Given the description of an element on the screen output the (x, y) to click on. 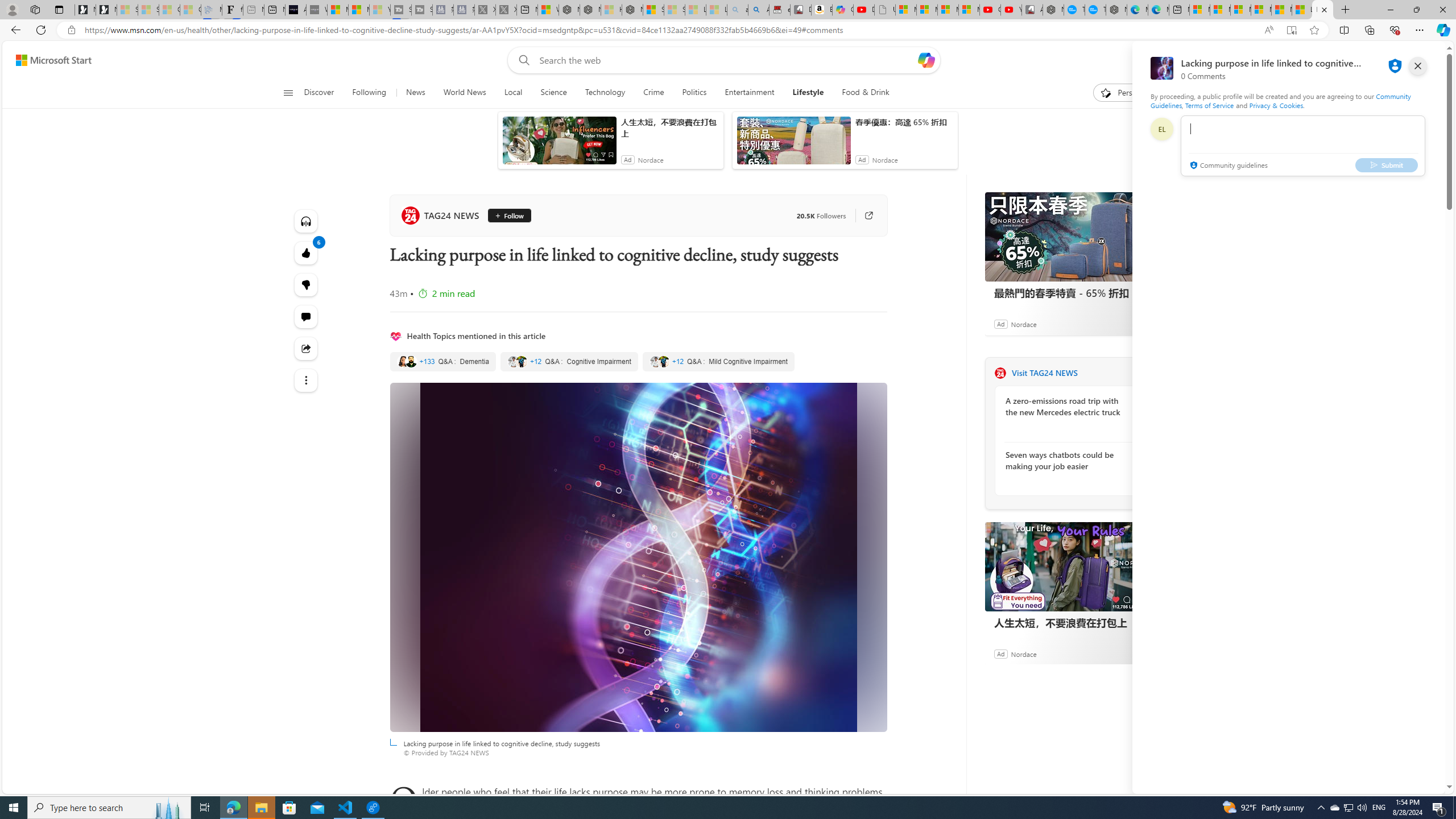
Cognitive Impairment (568, 361)
Local (513, 92)
Technology (604, 92)
Submit (1386, 164)
Dementia (443, 361)
Untitled (884, 9)
Gloom - YouTube (990, 9)
